Given the description of an element on the screen output the (x, y) to click on. 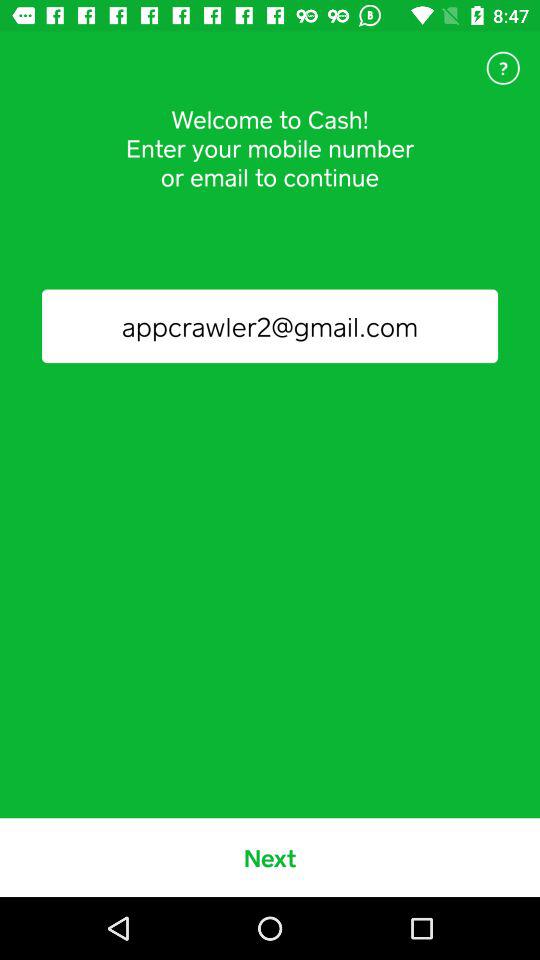
click the next icon (270, 857)
